Given the description of an element on the screen output the (x, y) to click on. 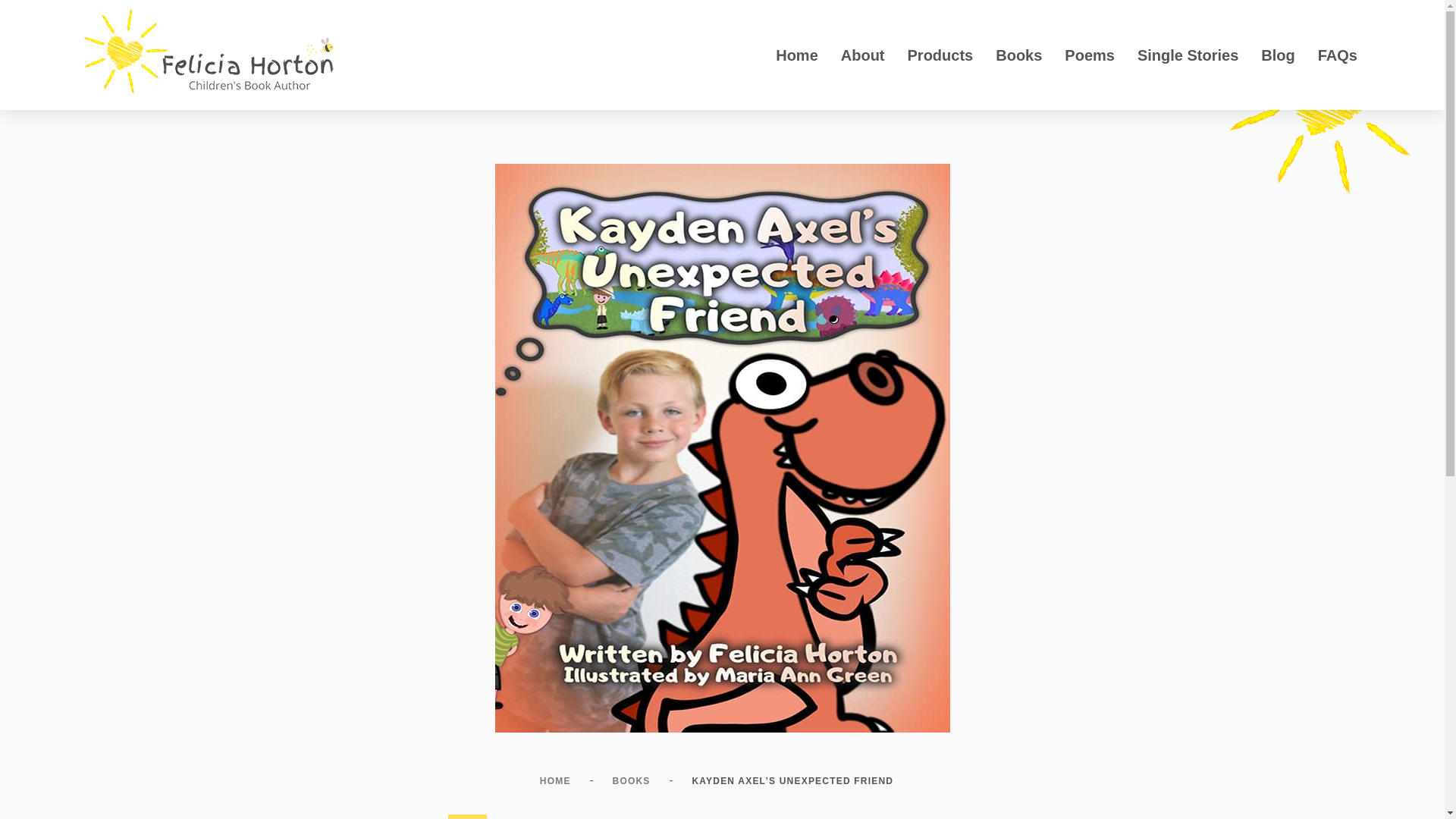
Products (940, 55)
Blog (1277, 55)
About (862, 55)
Single Stories (1187, 55)
BOOKS (631, 781)
FAQs (1337, 55)
Poems (1088, 55)
Books (1018, 55)
Home (796, 55)
HOME (555, 781)
